Given the description of an element on the screen output the (x, y) to click on. 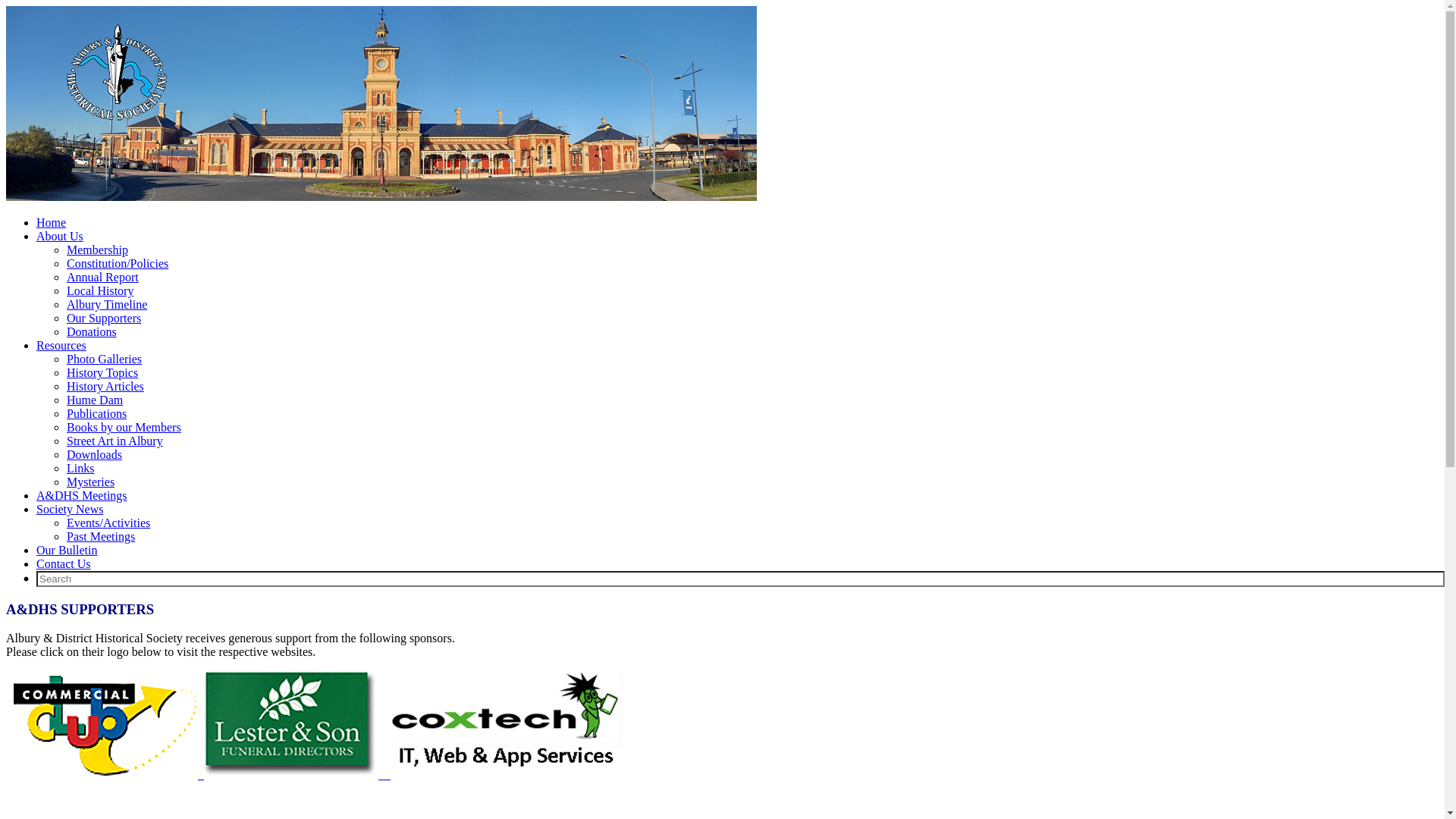
Books by our Members Element type: text (123, 426)
Society News Element type: text (69, 508)
  Element type: text (104, 774)
Past Meetings Element type: text (100, 536)
Mysteries Element type: text (90, 481)
Photo Galleries Element type: text (103, 358)
History Articles Element type: text (105, 385)
Contact Us Element type: text (63, 563)
Street Art in Albury Element type: text (114, 440)
Events/Activities Element type: text (108, 522)
History Topics Element type: text (102, 372)
Links Element type: text (80, 467)
Annual Report Element type: text (102, 276)
    Element type: text (296, 774)
About Us Element type: text (59, 235)
Albury & District Historical Society Inc Element type: hover (381, 196)
Membership Element type: text (97, 249)
Downloads Element type: text (94, 454)
Resources Element type: text (61, 344)
Home Element type: text (50, 222)
Our Supporters Element type: text (103, 317)
Constitution/Policies Element type: text (117, 263)
Donations Element type: text (91, 331)
A&DHS Meetings Element type: text (81, 495)
Publications Element type: text (96, 413)
Our Bulletin Element type: text (66, 549)
Albury-Rail-Panorama03 Element type: hover (381, 103)
Local History Element type: text (99, 290)
Albury Timeline Element type: text (106, 304)
Hume Dam Element type: text (94, 399)
Search Element type: hover (740, 578)
